Given the description of an element on the screen output the (x, y) to click on. 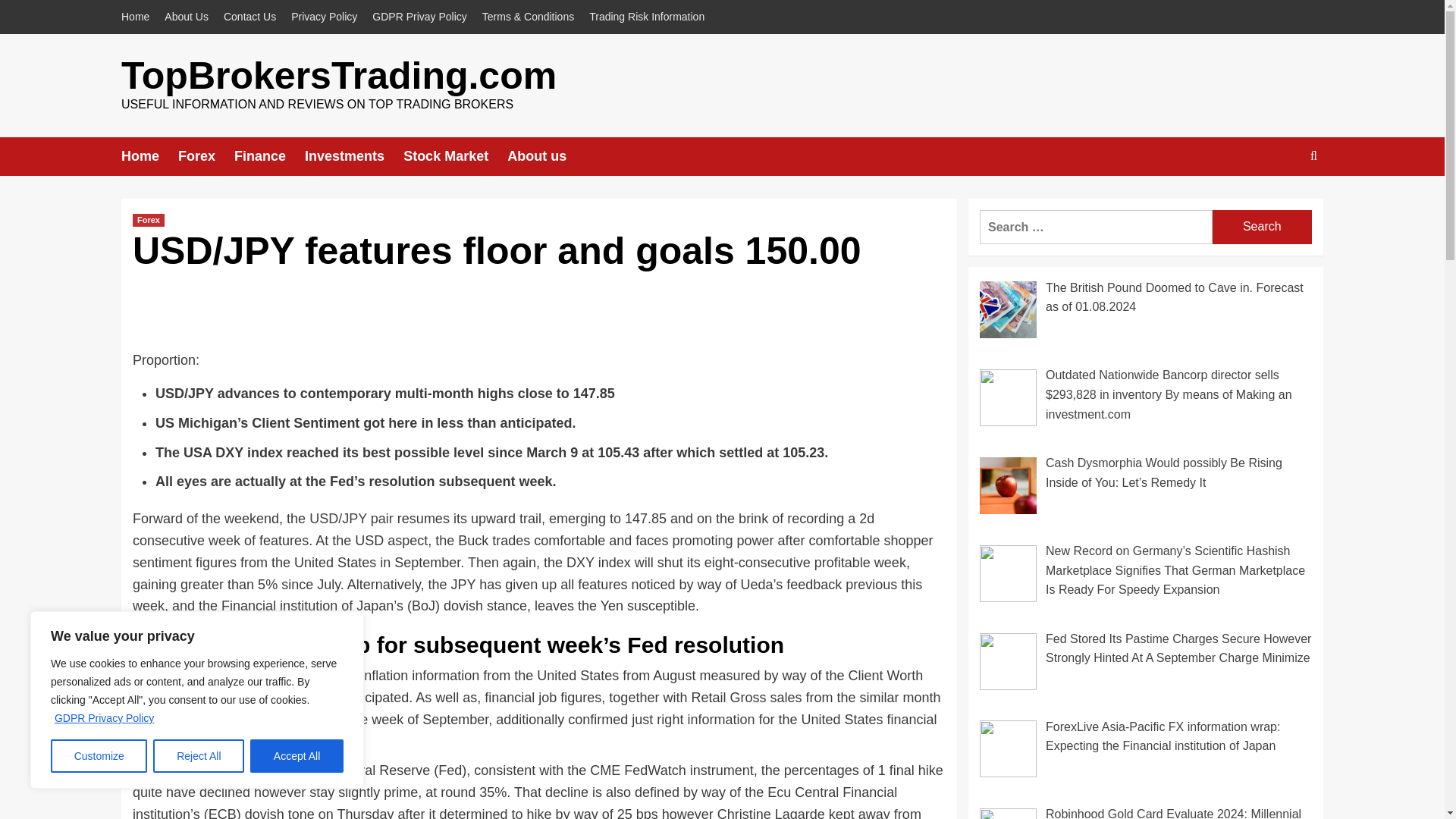
Investments (353, 156)
Home (138, 17)
Search (1278, 202)
GDPR Privacy Policy (103, 717)
Forex (148, 219)
Stock Market (454, 156)
Search (1261, 226)
Customize (98, 756)
TopBrokersTrading.com (338, 75)
About Us (186, 17)
Forex (205, 156)
Accept All (296, 756)
Reject All (198, 756)
Contact Us (249, 17)
Finance (269, 156)
